Given the description of an element on the screen output the (x, y) to click on. 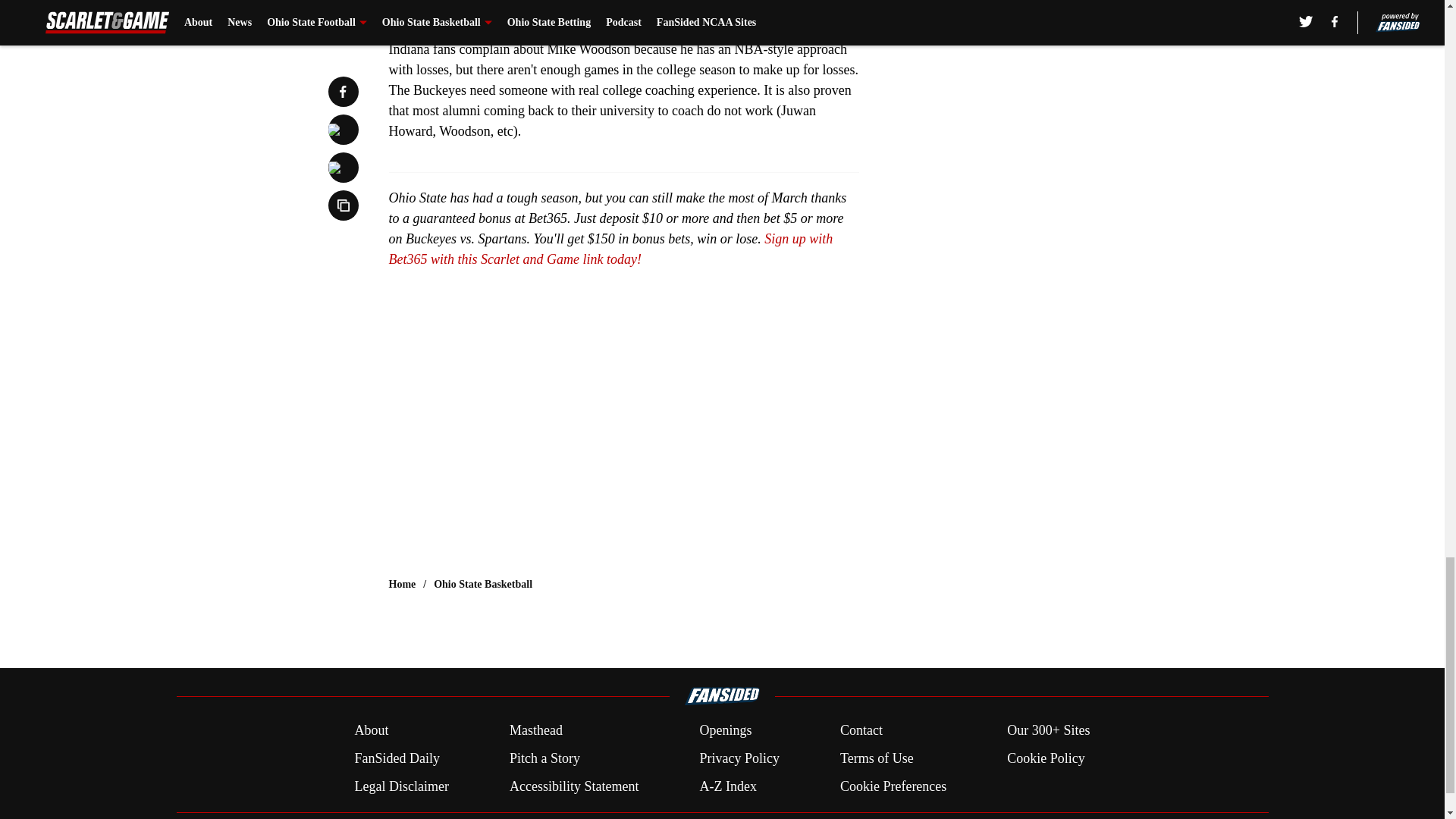
Ohio State Basketball (482, 584)
Contact (861, 730)
Cookie Policy (1045, 758)
Masthead (535, 730)
Openings (724, 730)
Accessibility Statement (574, 786)
Sign up with Bet365 with this Scarlet and Game link today! (610, 248)
Home (401, 584)
Pitch a Story (544, 758)
Privacy Policy (738, 758)
Legal Disclaimer (400, 786)
Terms of Use (877, 758)
FanSided Daily (396, 758)
About (370, 730)
